Given the description of an element on the screen output the (x, y) to click on. 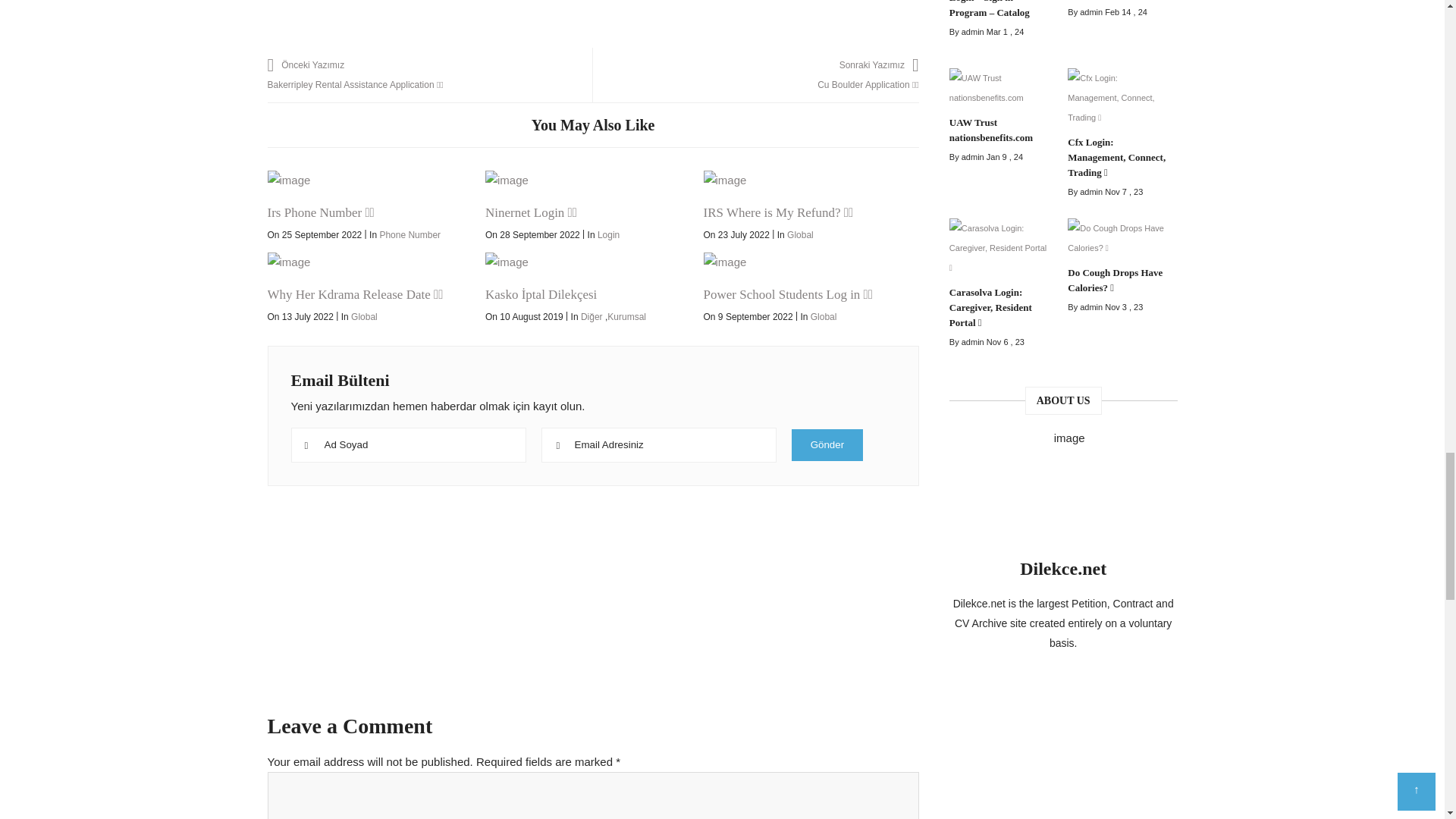
Global (363, 317)
UAW Trust nationsbenefits.com (999, 91)
Phone Number (409, 235)
Email Adresiniz (659, 444)
Ad Soyad (409, 444)
Global (800, 235)
Login (608, 235)
